Given the description of an element on the screen output the (x, y) to click on. 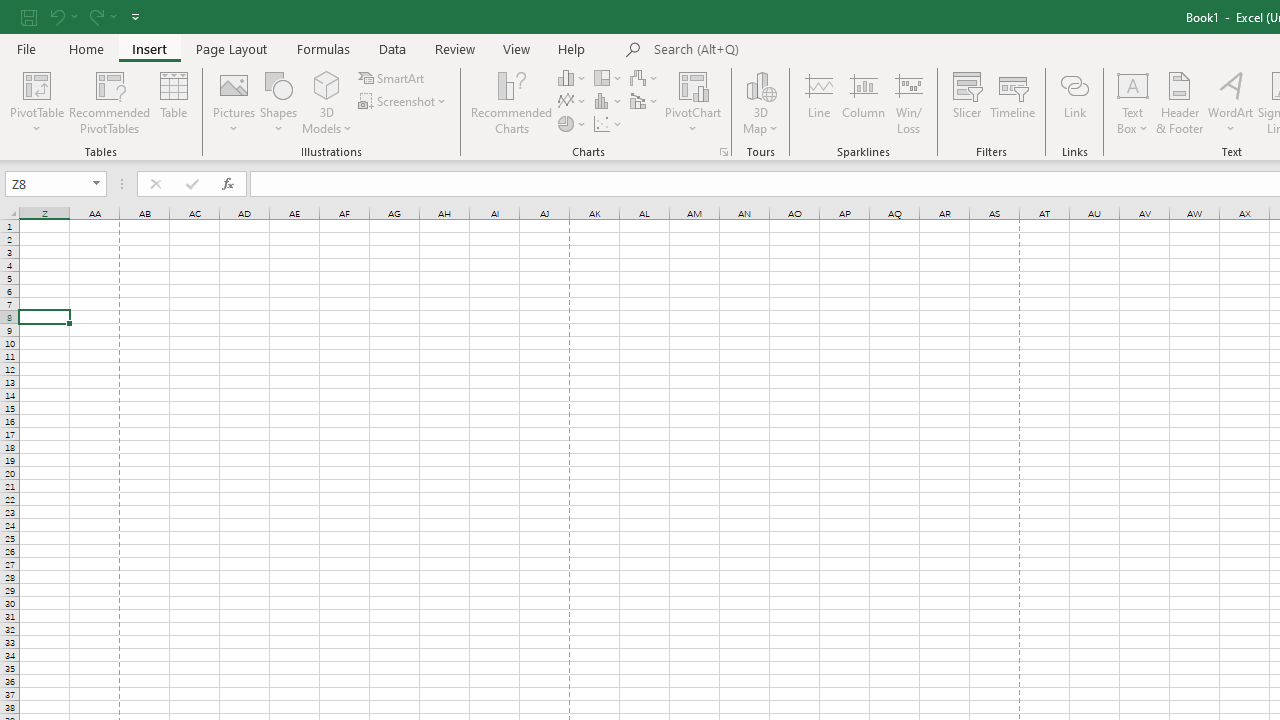
3D Map (760, 84)
3D Models (326, 84)
SmartArt... (392, 78)
Insert Pie or Doughnut Chart (573, 124)
Line (818, 102)
Link (1074, 102)
